Given the description of an element on the screen output the (x, y) to click on. 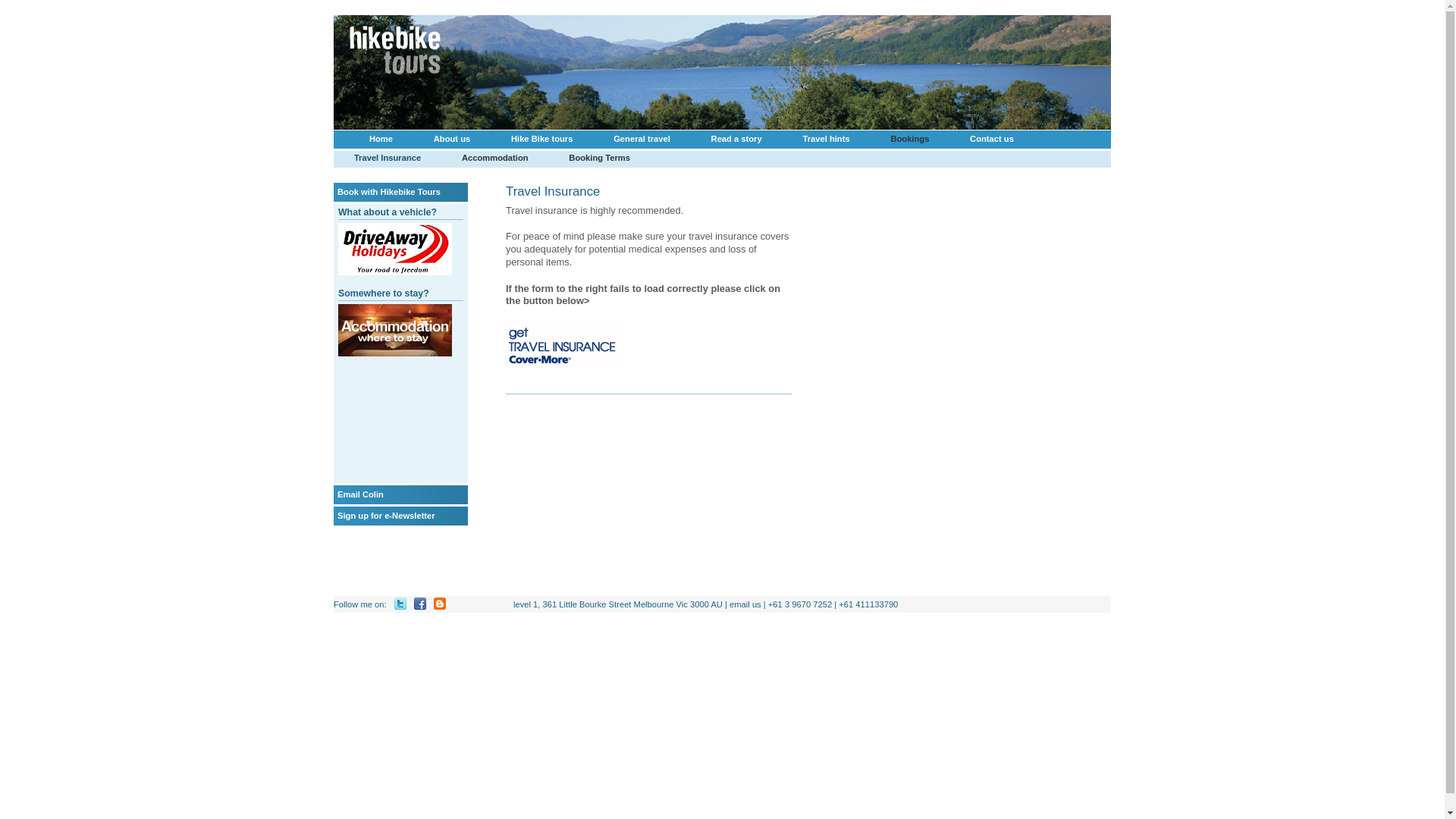
Booking Terms Element type: text (598, 157)
Email Colin Element type: text (360, 493)
Read a story Element type: text (736, 138)
email us Element type: text (745, 603)
About us Element type: text (451, 138)
Contact us Element type: text (991, 138)
General travel Element type: text (641, 138)
Sign up for e-Newsletter Element type: text (386, 515)
Hike Bike tours Element type: text (541, 138)
Bookings Element type: text (910, 138)
Home Element type: text (380, 138)
Travel Insurance Element type: text (387, 157)
Accommodation Element type: text (494, 157)
Travel hints Element type: text (826, 138)
